Given the description of an element on the screen output the (x, y) to click on. 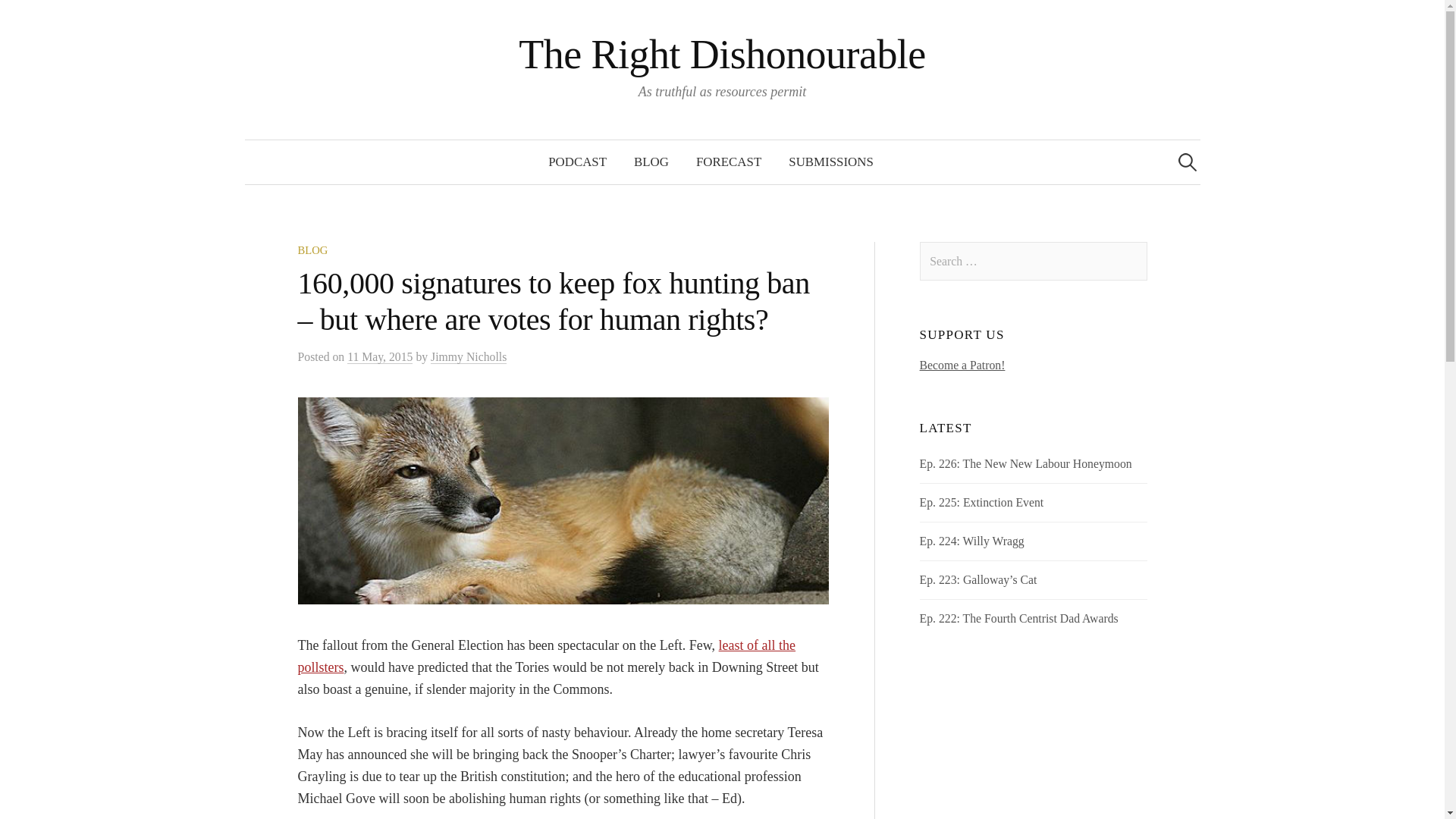
least of all the pollsters (545, 656)
Become a Patron! (963, 364)
The Right Dishonourable (722, 53)
BLOG (651, 162)
PODCAST (577, 162)
FORECAST (728, 162)
Ep. 224: Willy Wragg (972, 540)
SUBMISSIONS (830, 162)
Ep. 225: Extinction Event (981, 502)
Jimmy Nicholls (468, 356)
